Given the description of an element on the screen output the (x, y) to click on. 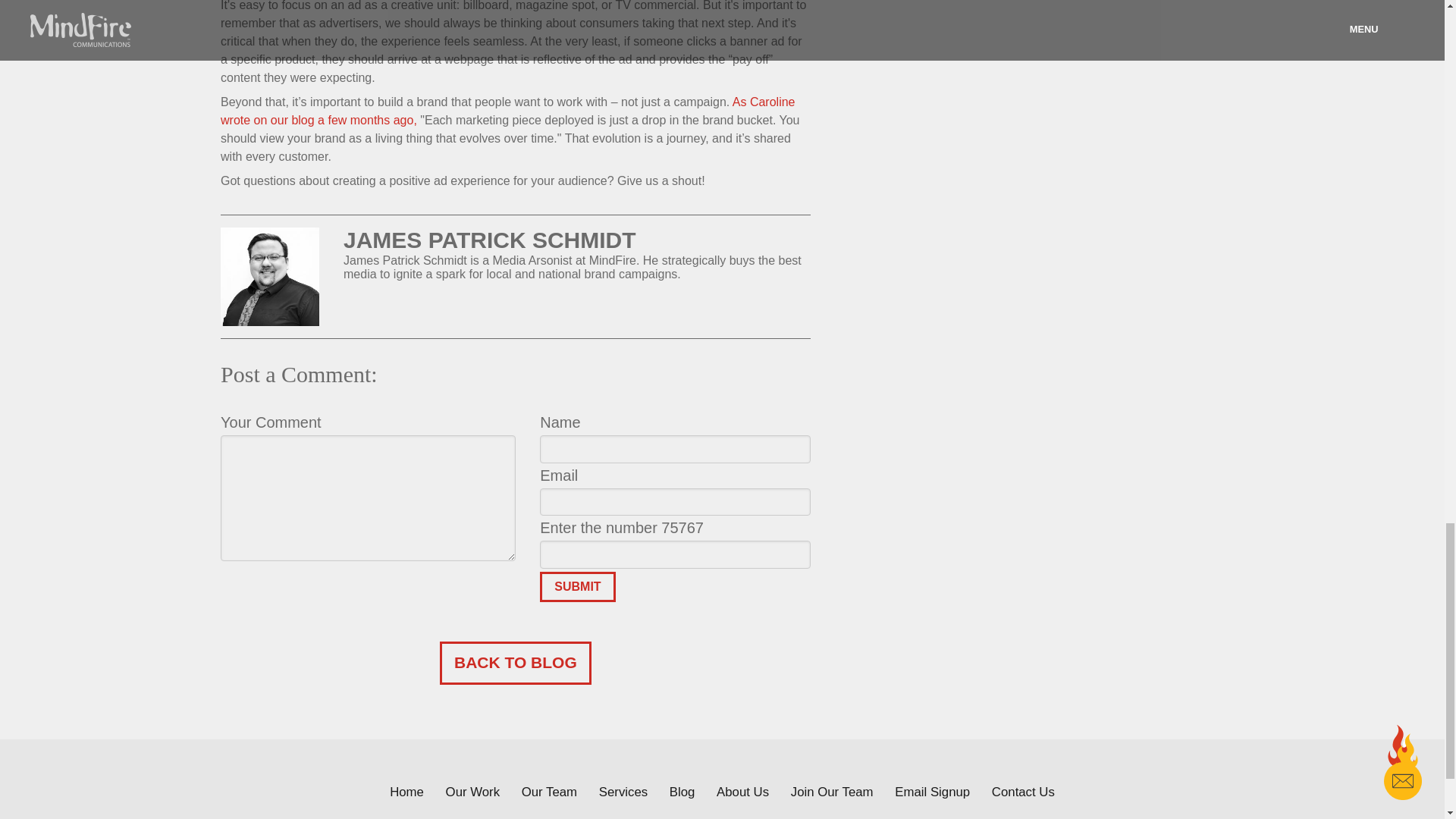
Our Work (472, 791)
As Caroline wrote on our blog a few months ago, (507, 110)
Services (622, 791)
Home (406, 791)
SUBMIT (577, 586)
BACK TO BLOG (515, 662)
Our Team (548, 791)
